Given the description of an element on the screen output the (x, y) to click on. 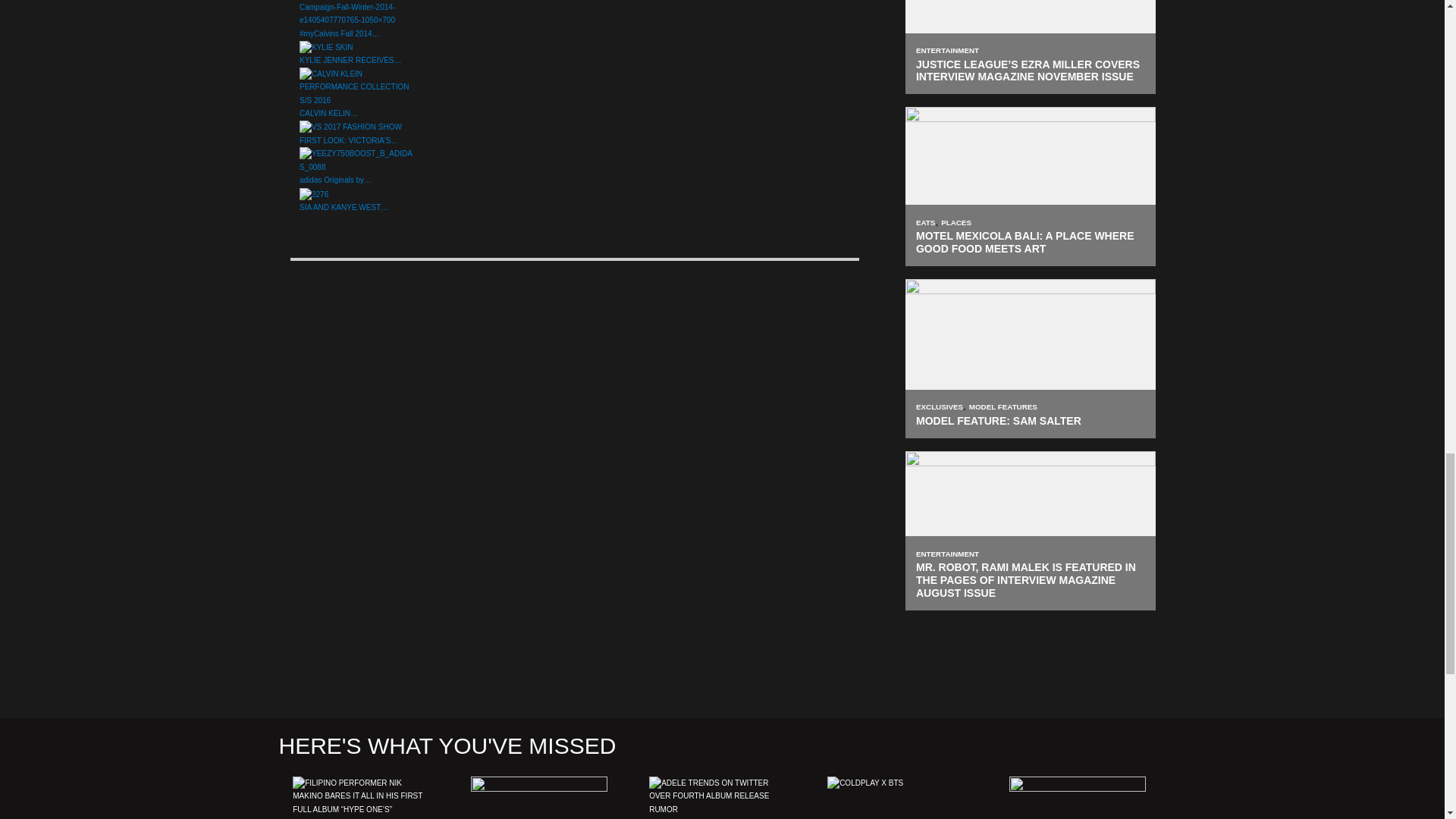
KYLIE JENNER RECEIVES A BACKLASH FOR HER NEW SKINCARE LINE (325, 47)
SIA AND KANYE WEST DROPS "REAPER" (314, 194)
FIRST LOOK: VICTORIA'S SECRET FASHION SHOW 2017 (350, 127)
